Given the description of an element on the screen output the (x, y) to click on. 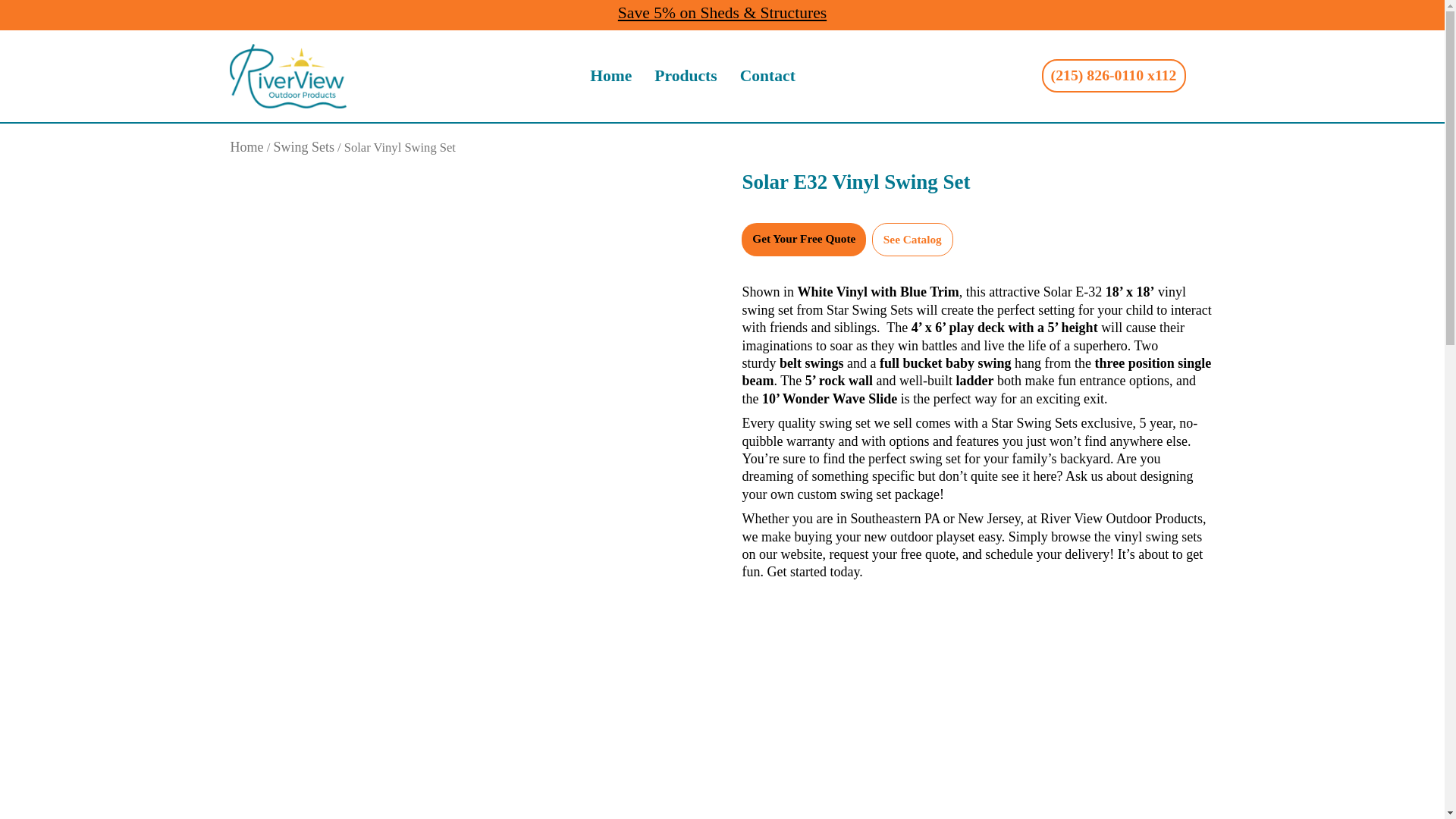
Contact (766, 75)
Home (246, 146)
Products (684, 75)
See Catalog (912, 239)
Get Your Free Quote (803, 239)
Home (610, 75)
Swing Sets (303, 146)
